Given the description of an element on the screen output the (x, y) to click on. 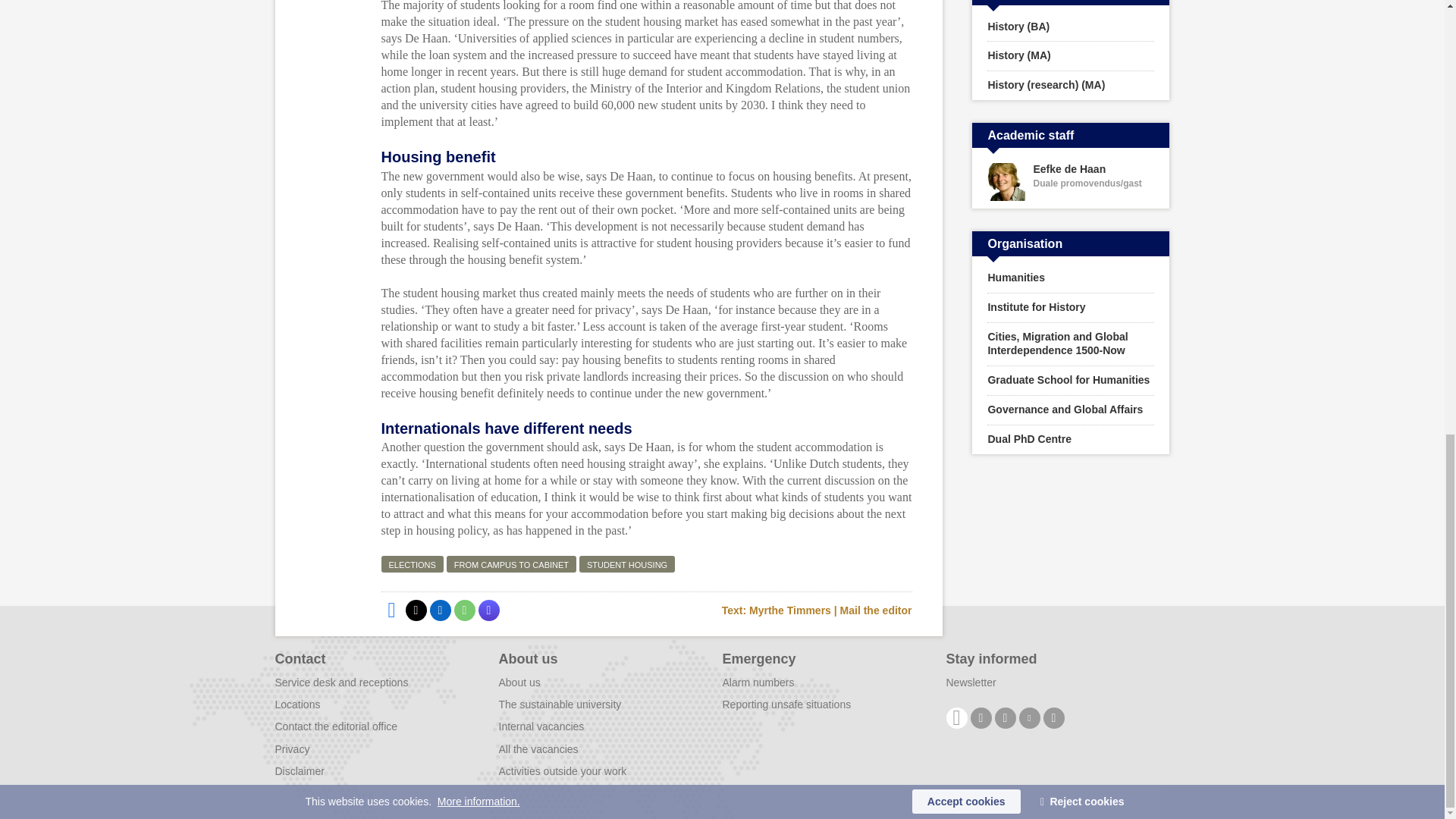
Share on LinkedIn (439, 609)
Share on Facebook (390, 609)
Share on X (415, 609)
Share by WhatsApp (463, 609)
Share by Mastodon (488, 609)
